Given the description of an element on the screen output the (x, y) to click on. 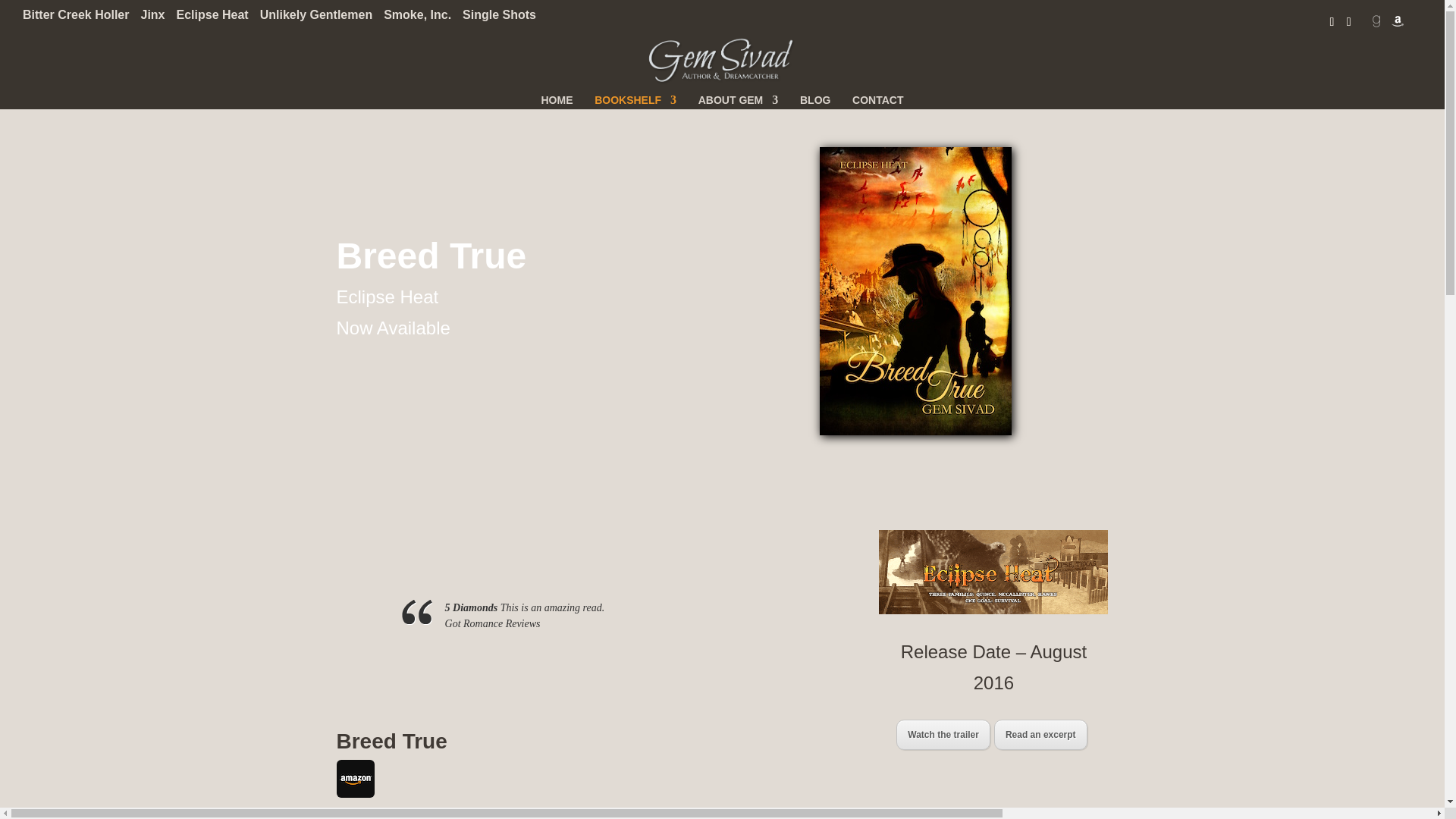
BOOKSHELF (635, 103)
Pre-Order Breed True (355, 778)
Smoke, Inc. (417, 19)
Single Shots (499, 19)
Eclipse Heat (212, 19)
Bitter Creek Holler (76, 19)
Unlikely Gentlemen (316, 19)
Jinx (153, 19)
Pre-Order Breed True (355, 782)
HOME (557, 103)
